Given the description of an element on the screen output the (x, y) to click on. 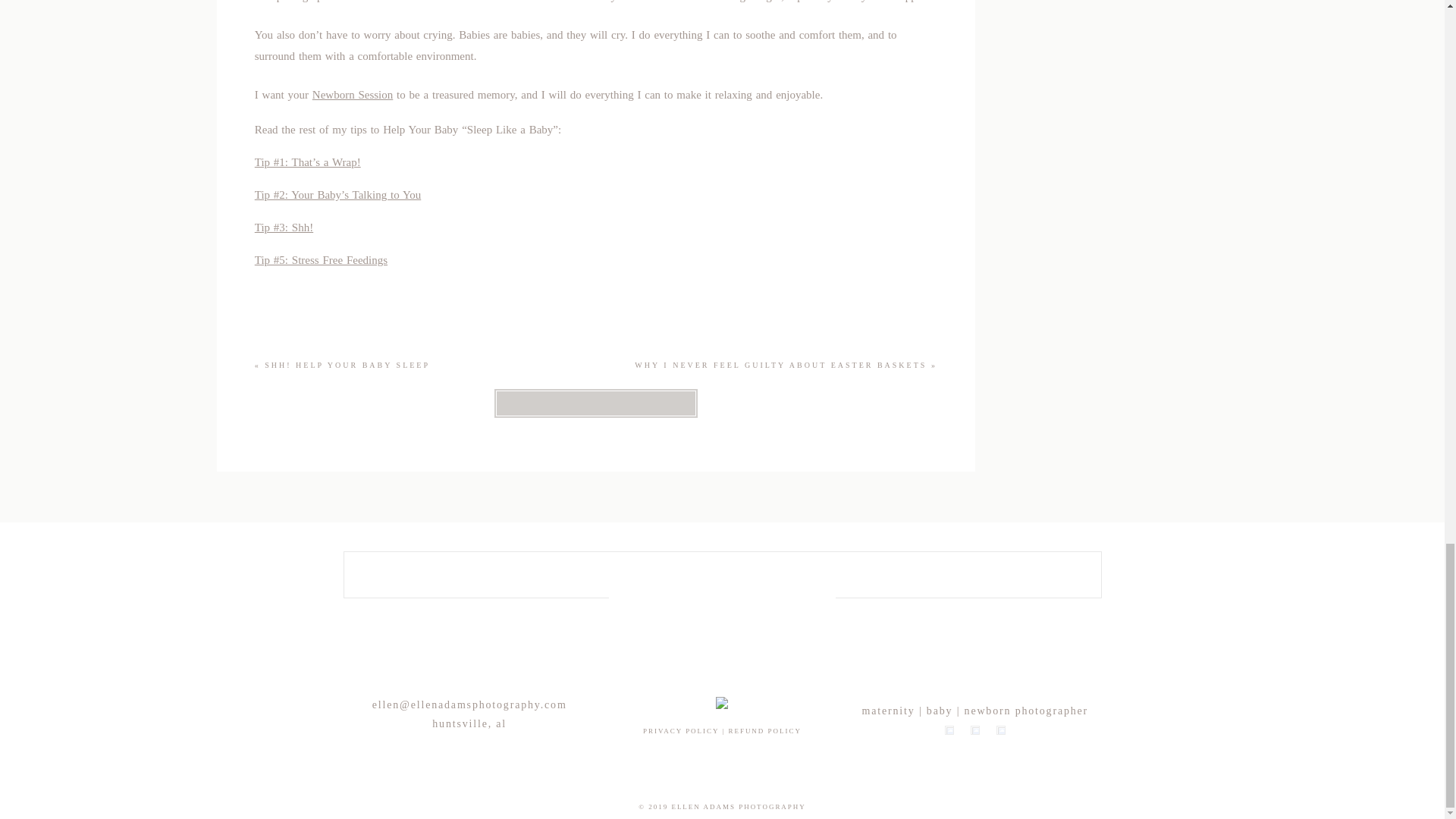
PRIVACY POLICY (681, 730)
WHY I NEVER FEEL GUILTY ABOUT EASTER BASKETS (780, 365)
REFUND POLICY (765, 730)
SHH! HELP YOUR BABY SLEEP (346, 365)
Newborn Session (353, 94)
